Given the description of an element on the screen output the (x, y) to click on. 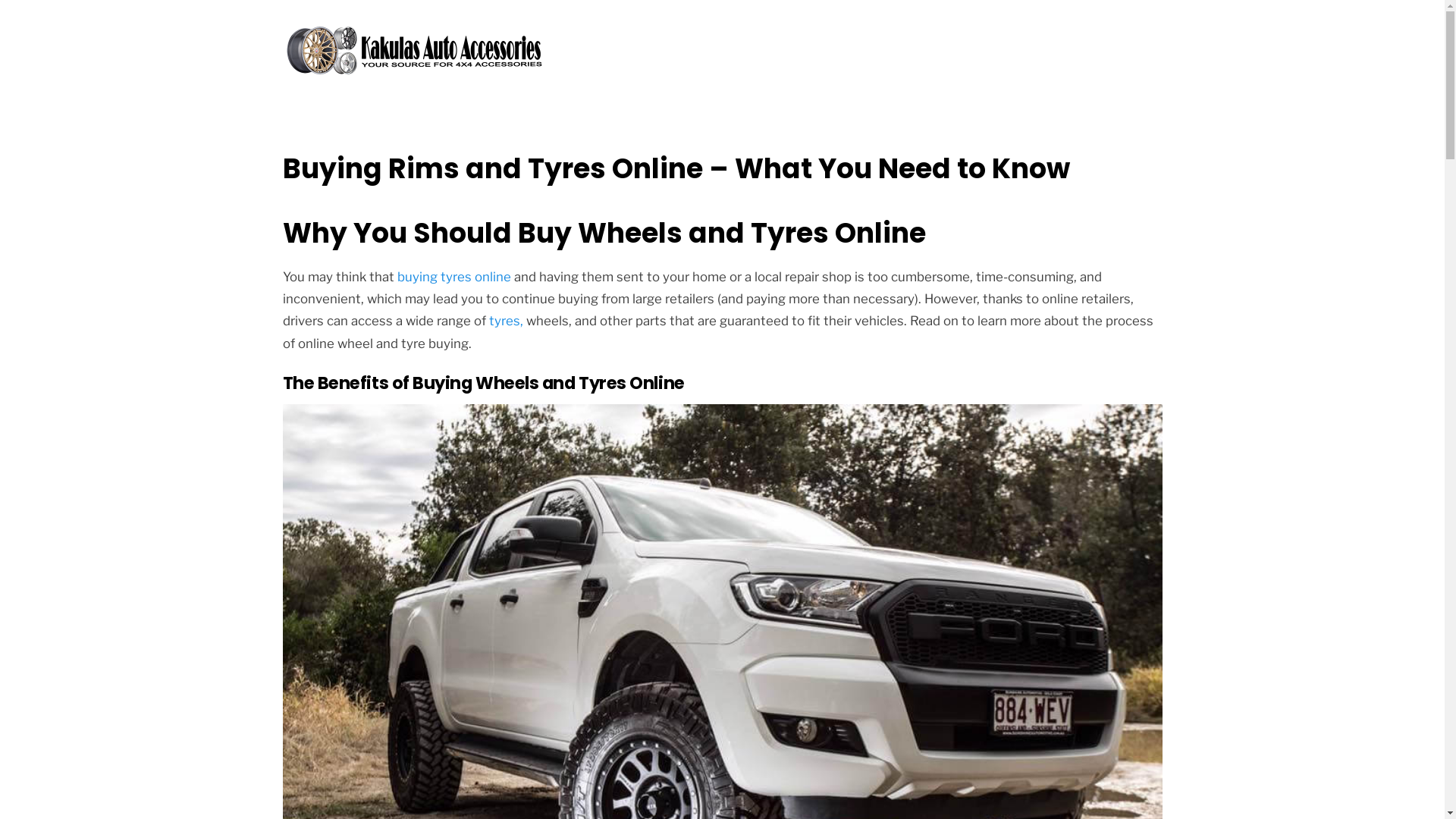
tyres, Element type: text (505, 320)
buying tyres online Element type: text (454, 276)
Kakulas Auto Accessories Element type: hover (414, 74)
Kakulas Auto Accessories Element type: hover (414, 52)
